Given the description of an element on the screen output the (x, y) to click on. 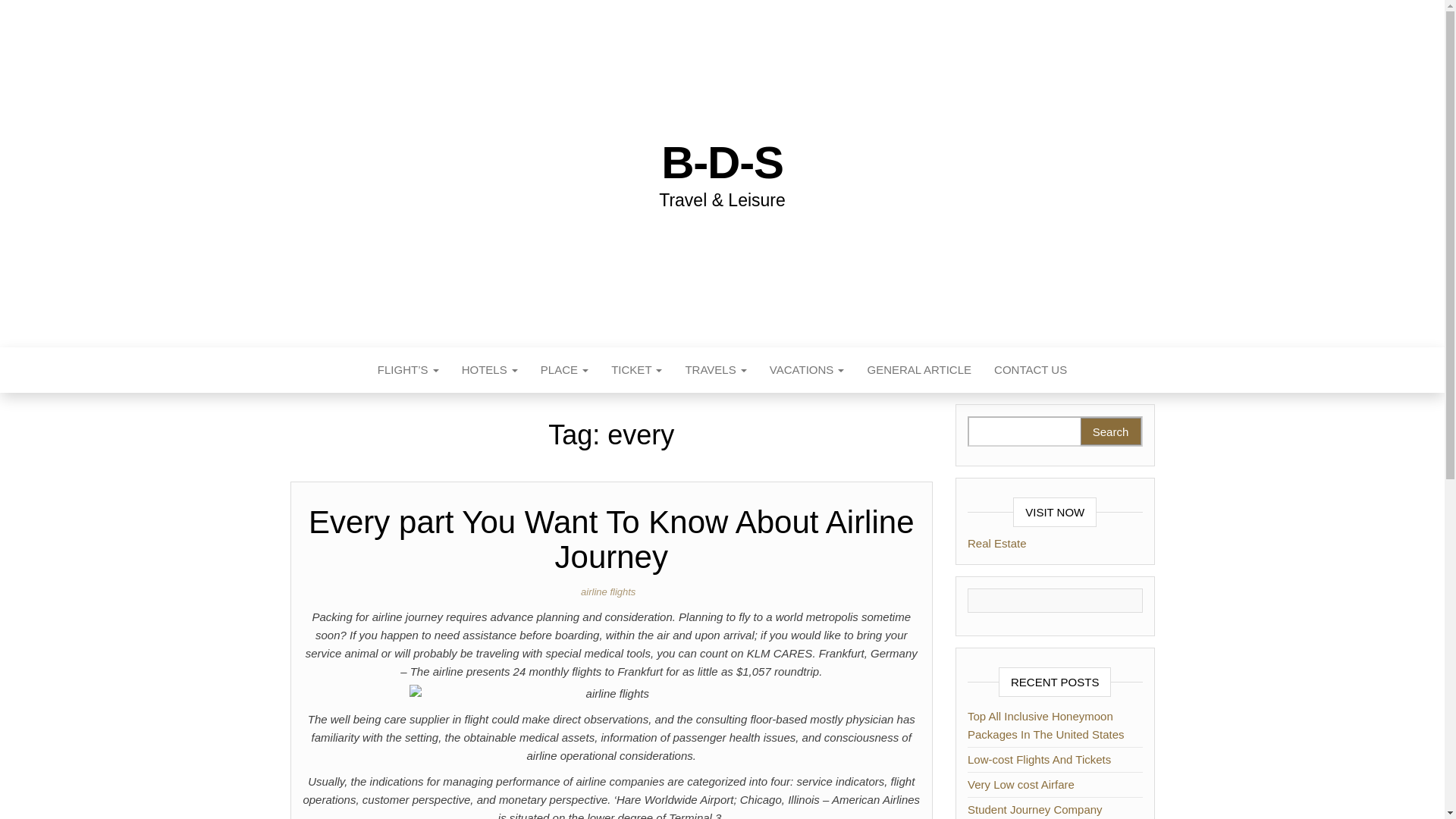
CONTACT US (1030, 370)
Real Estate (997, 543)
HOTELS (489, 370)
Search (1110, 431)
PLACE (564, 370)
TICKET (635, 370)
airline flights (611, 591)
Place (564, 370)
Very Low cost Airfare (1021, 784)
Low-cost Flights And Tickets (1039, 758)
Student Journey Company (1035, 809)
Top All Inclusive Honeymoon Packages In The United States (1046, 725)
Every part You Want To Know About Airline Journey (611, 539)
GENERAL ARTICLE (919, 370)
B-D-S (722, 162)
